Given the description of an element on the screen output the (x, y) to click on. 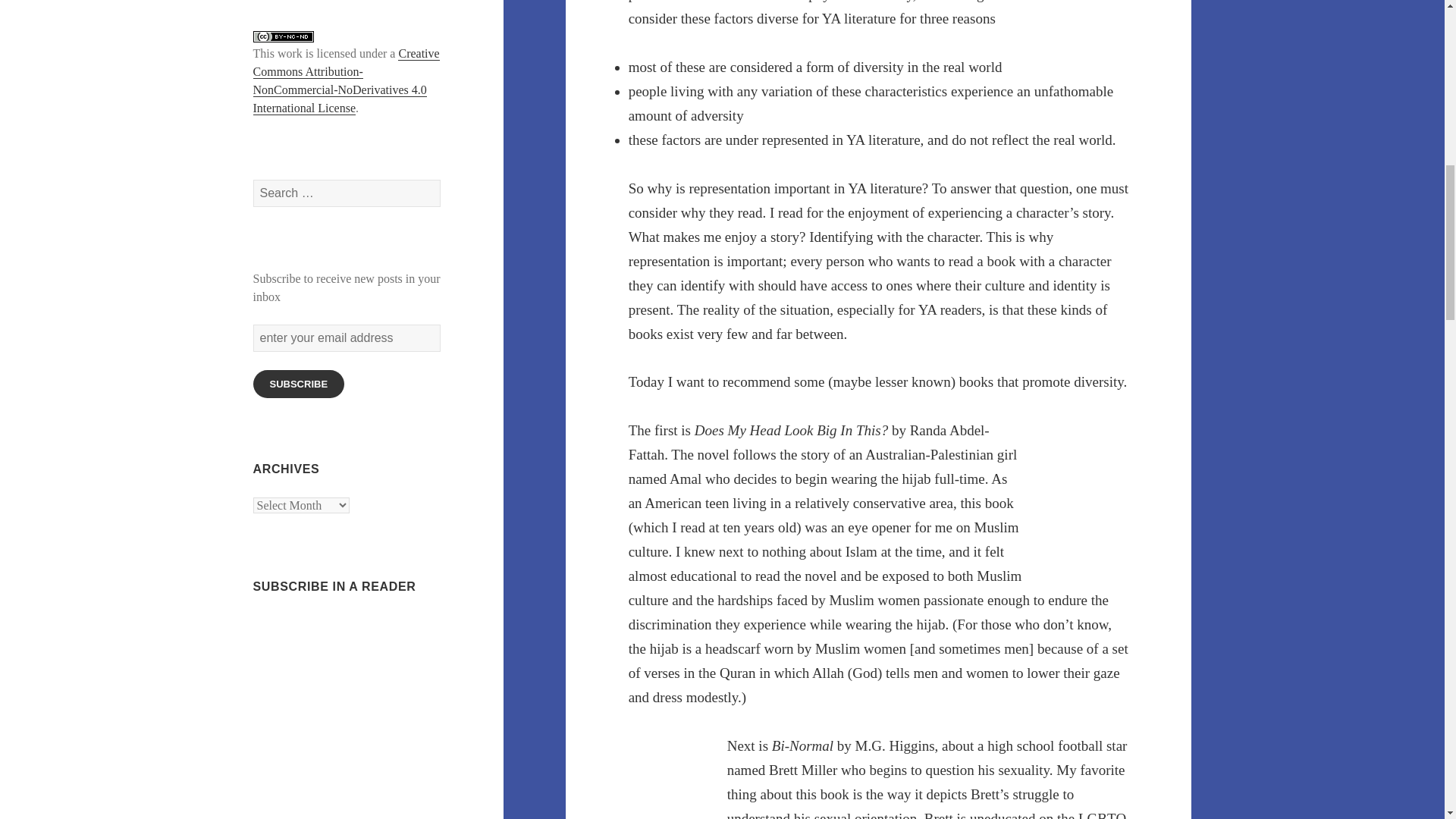
SUBSCRIBE (299, 384)
